Given the description of an element on the screen output the (x, y) to click on. 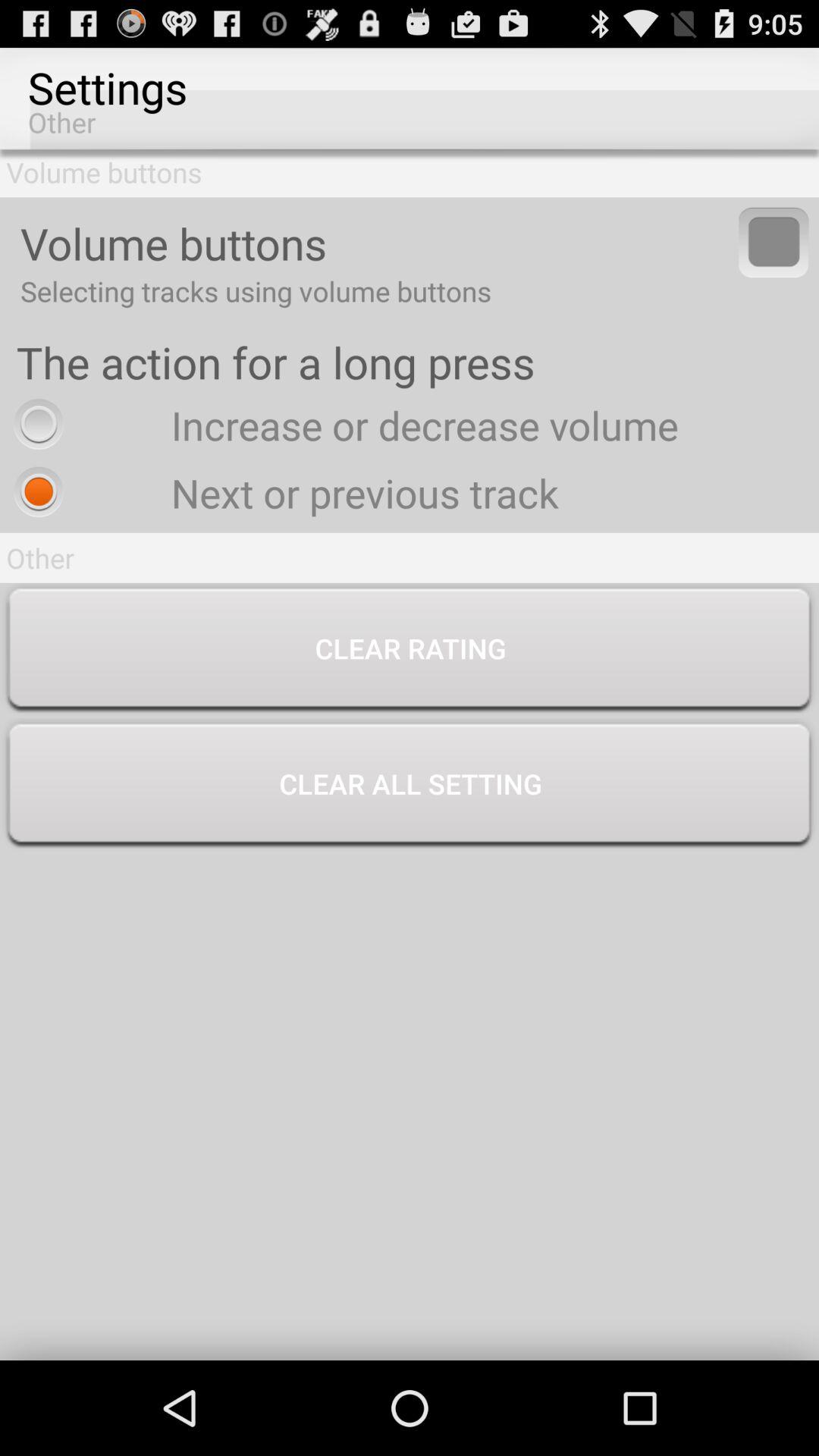
turn off the increase or decrease item (342, 424)
